Given the description of an element on the screen output the (x, y) to click on. 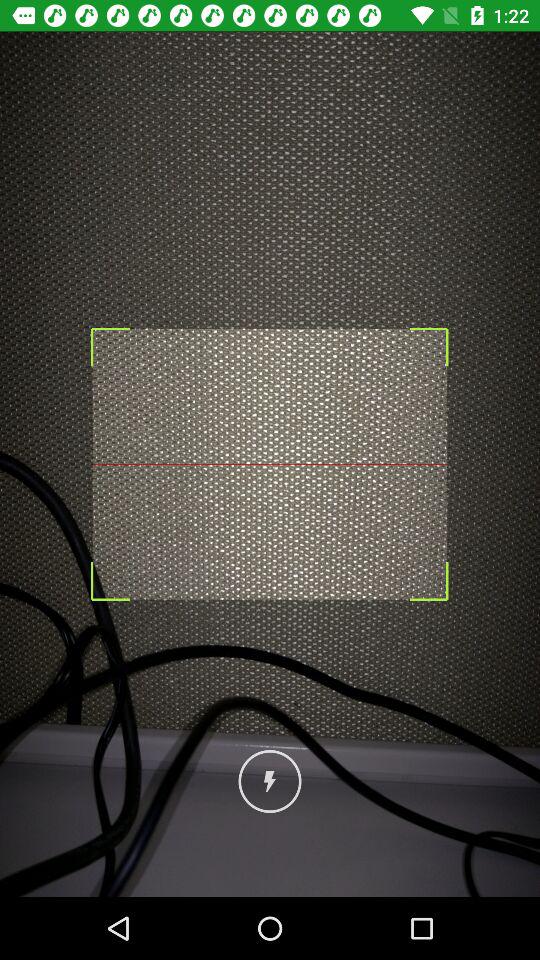
flash (269, 781)
